Given the description of an element on the screen output the (x, y) to click on. 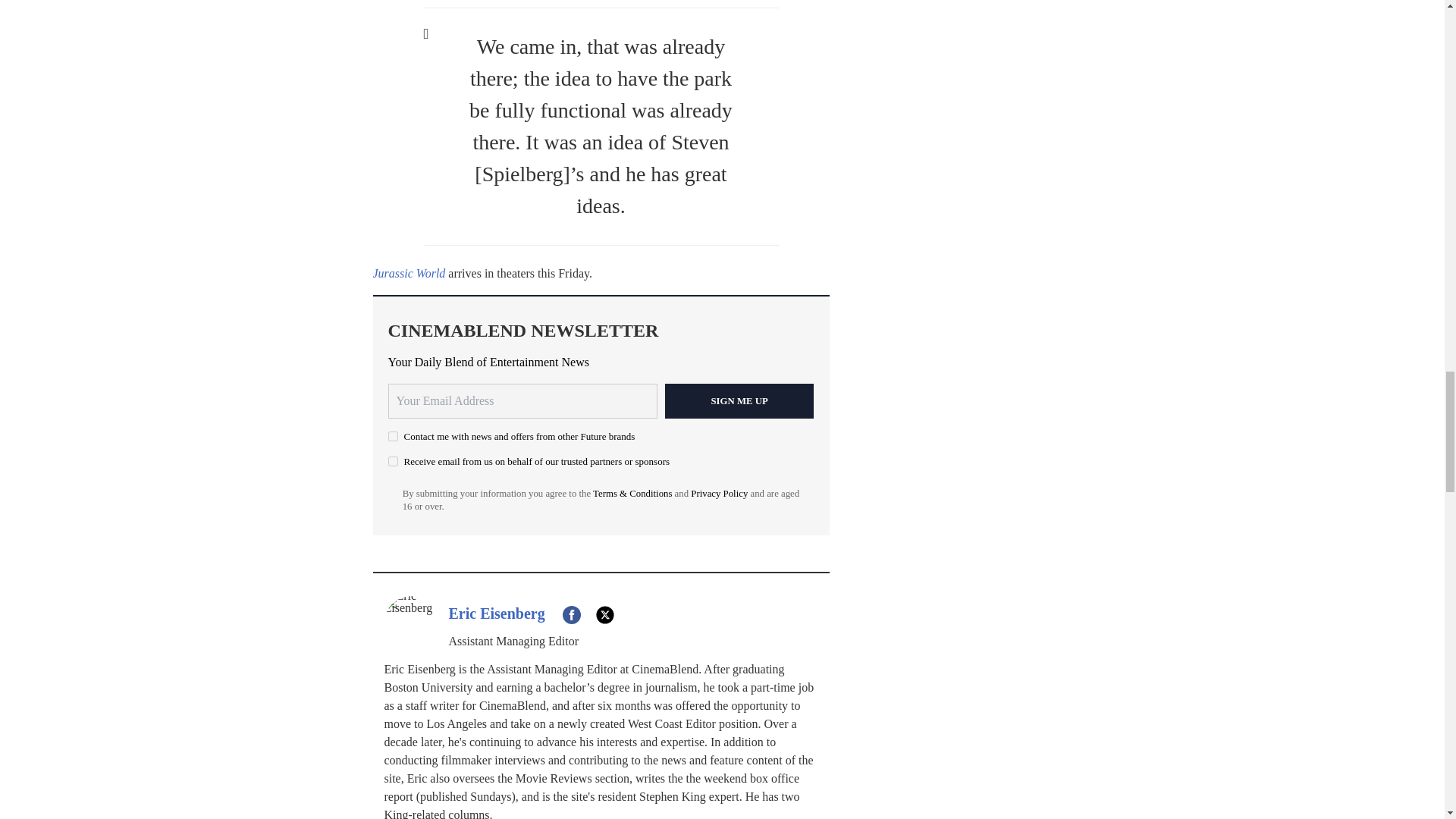
Sign me up (739, 401)
on (392, 461)
on (392, 436)
